Given the description of an element on the screen output the (x, y) to click on. 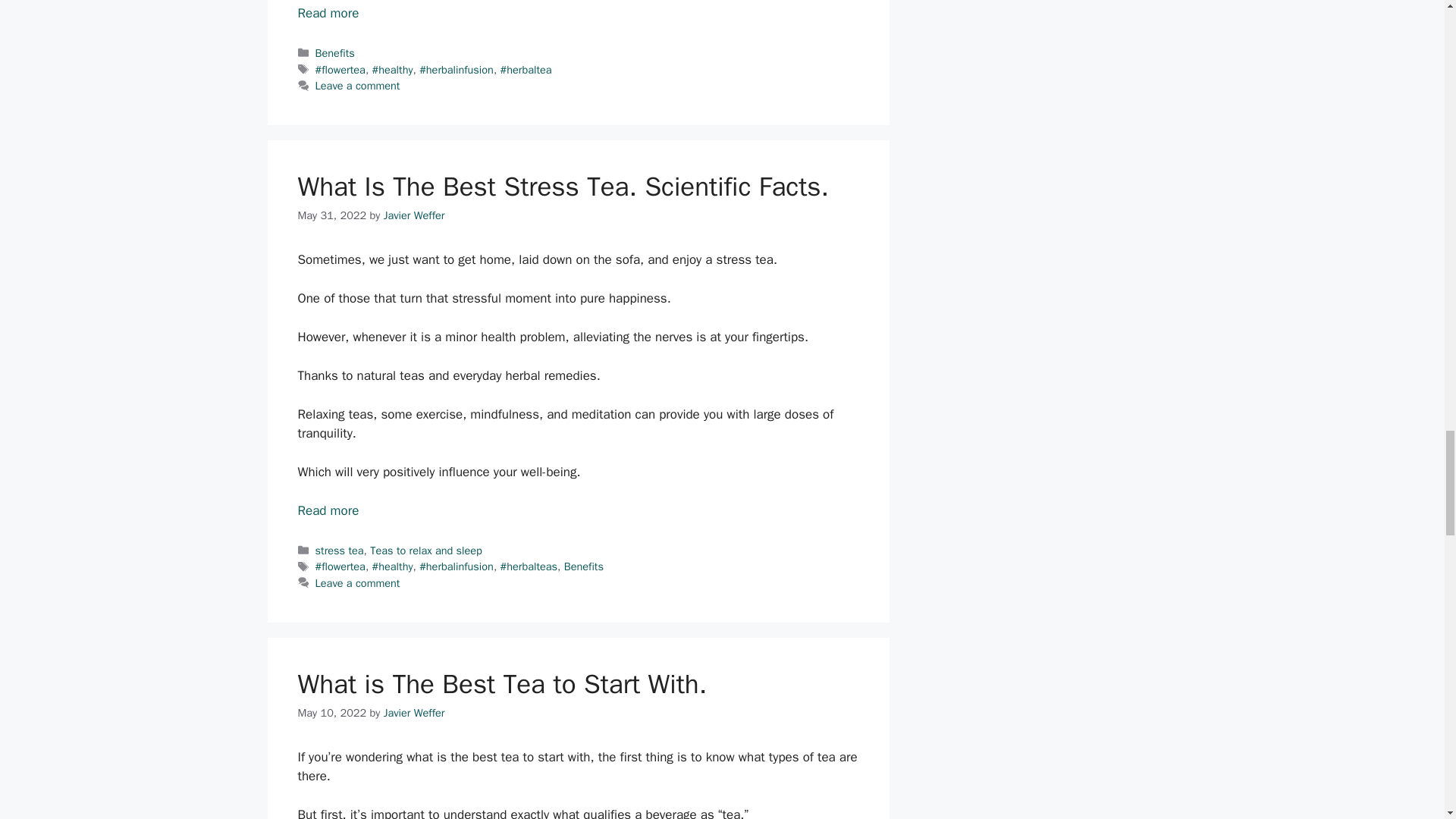
View all posts by Javier Weffer (414, 712)
The Best Nausea Teas for the Holidays (327, 12)
What Is The Best Stress Tea. Scientific Facts. (327, 510)
View all posts by Javier Weffer (414, 214)
